Given the description of an element on the screen output the (x, y) to click on. 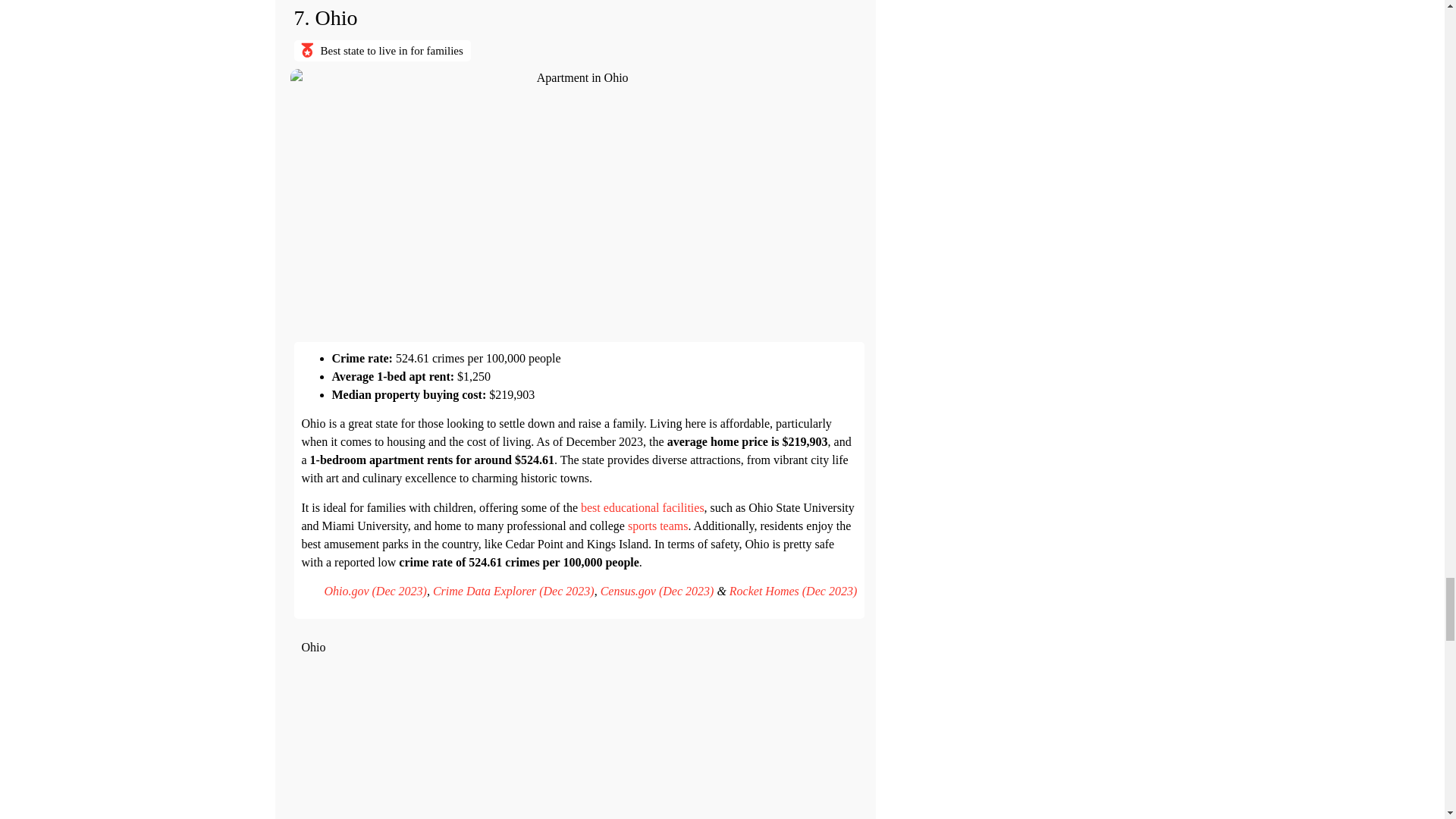
Ohio (579, 738)
